Given the description of an element on the screen output the (x, y) to click on. 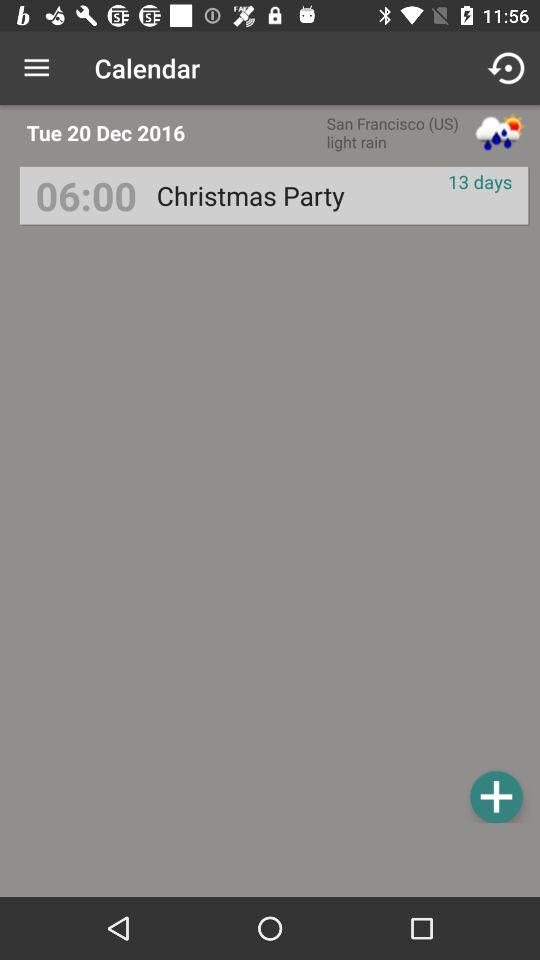
turn off the icon to the right of calendar (508, 67)
